Given the description of an element on the screen output the (x, y) to click on. 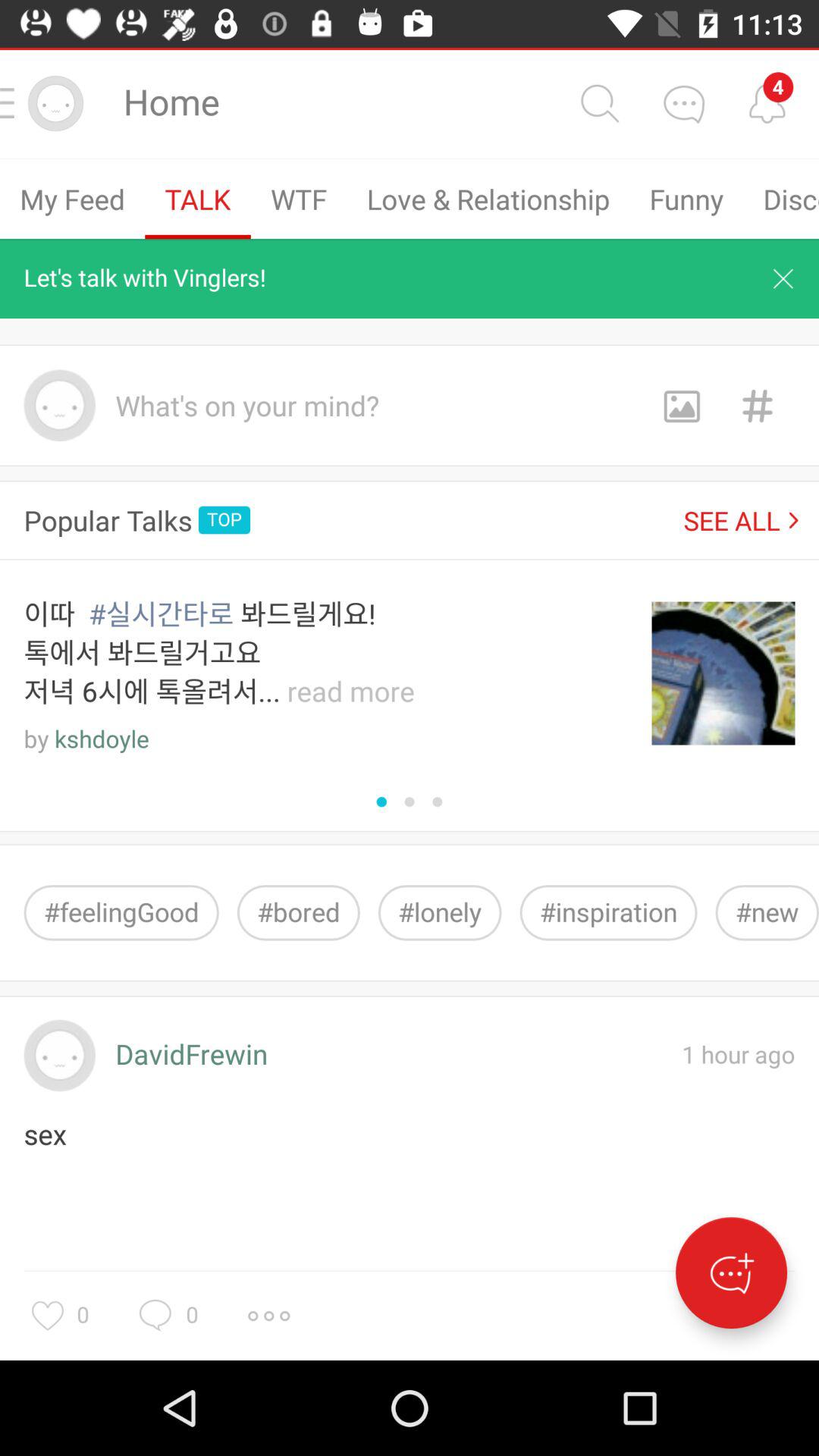
flip to see all icon (741, 520)
